Given the description of an element on the screen output the (x, y) to click on. 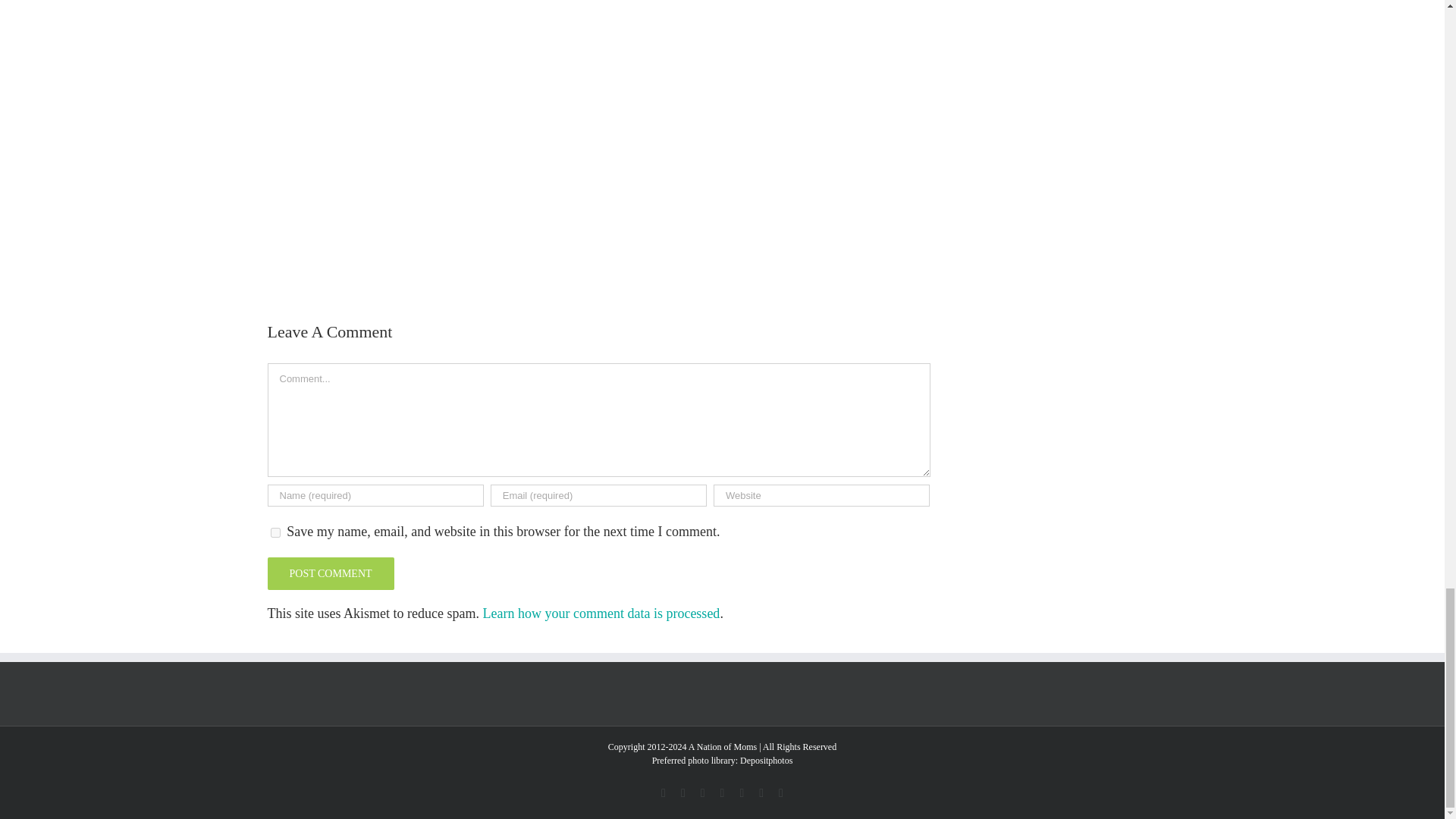
yes (274, 532)
Post Comment (329, 573)
